Given the description of an element on the screen output the (x, y) to click on. 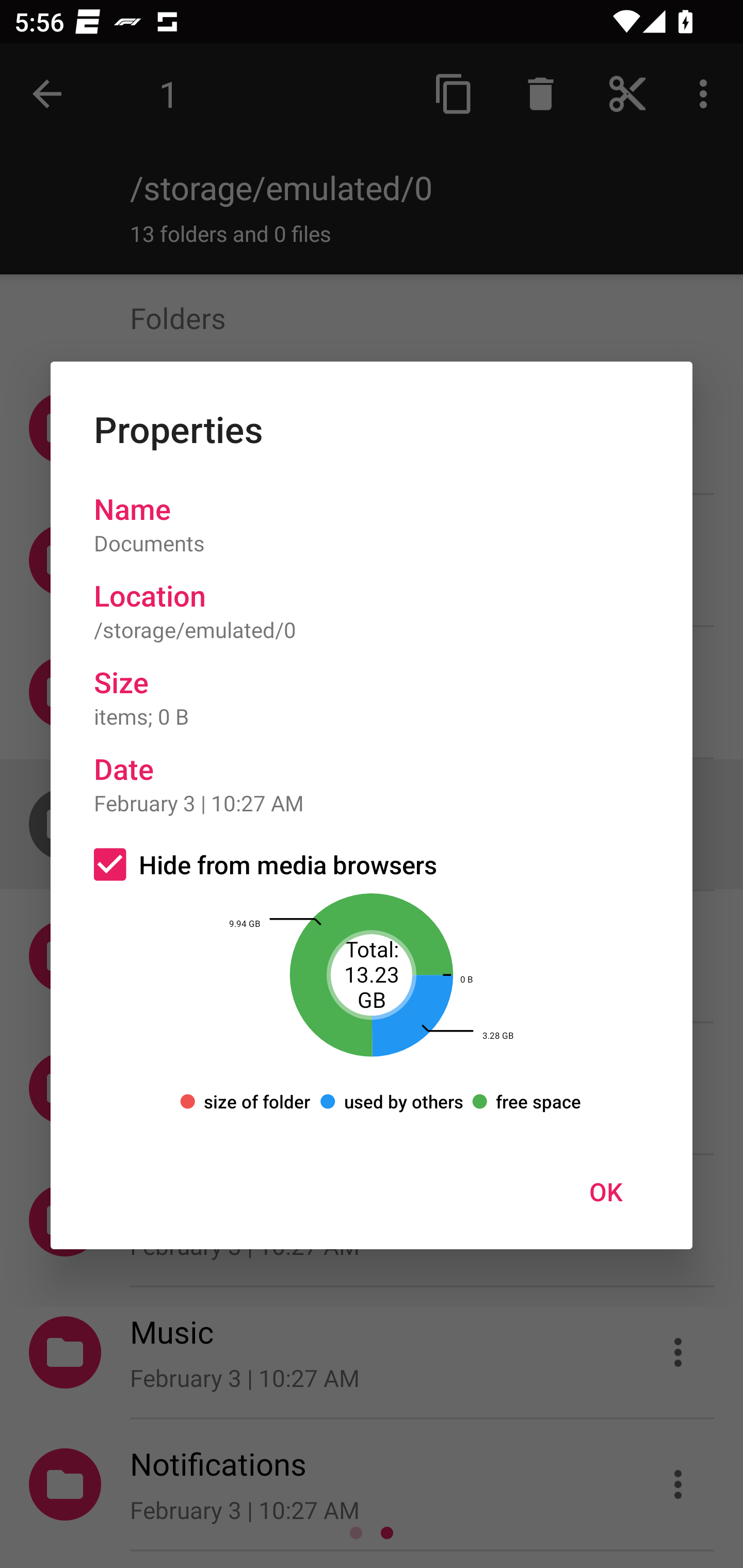
Hide from media browsers (371, 864)
OK (605, 1191)
